Given the description of an element on the screen output the (x, y) to click on. 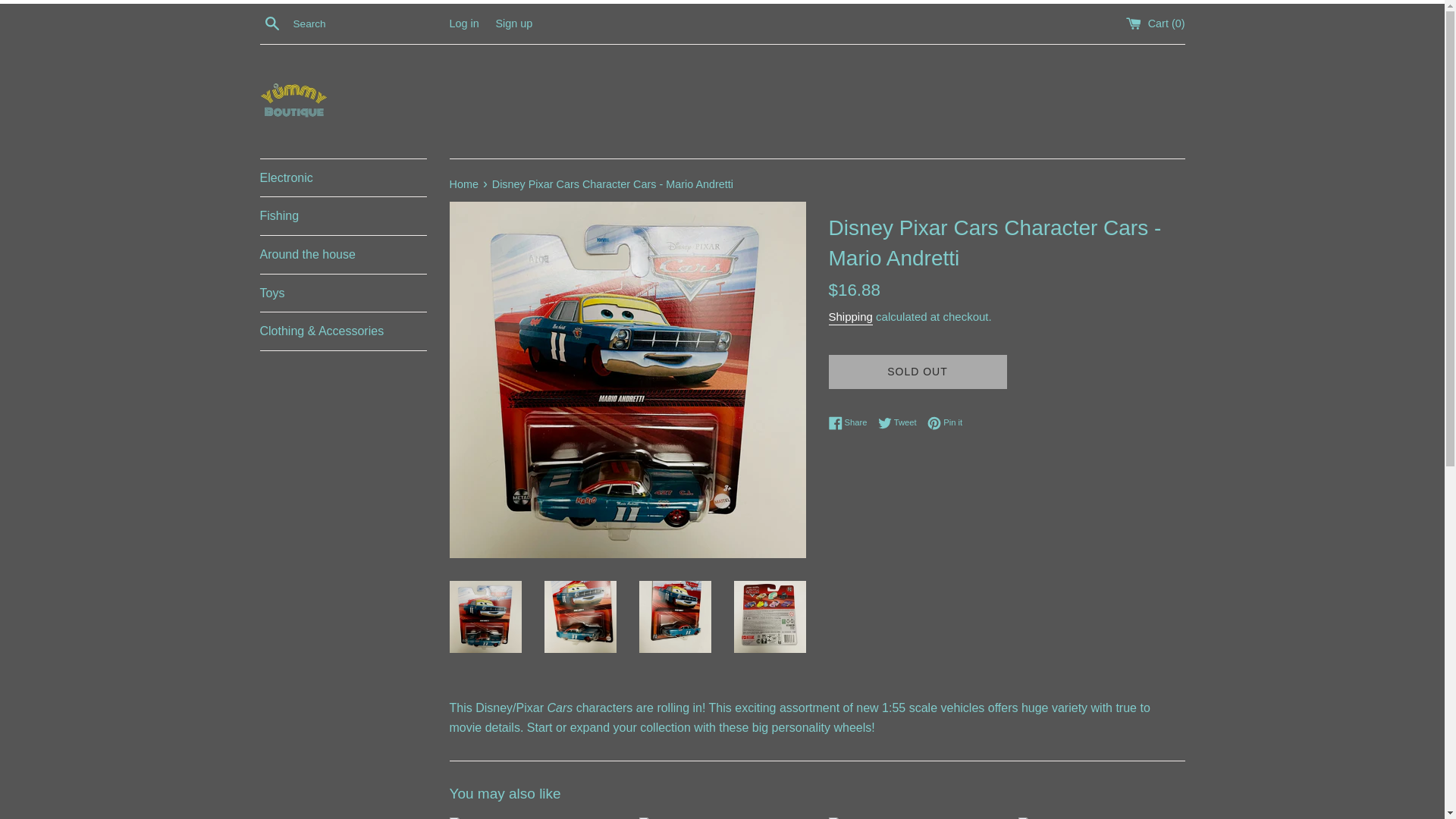
Search (271, 22)
Tweet on Twitter (900, 422)
Fishing (342, 216)
Back to the frontpage (464, 184)
Sign up (851, 422)
SOLD OUT (513, 22)
Share on Facebook (917, 371)
Funko Pop! Star Wars Obi Wan Kenobi Complete Set of 5 (851, 422)
